Given the description of an element on the screen output the (x, y) to click on. 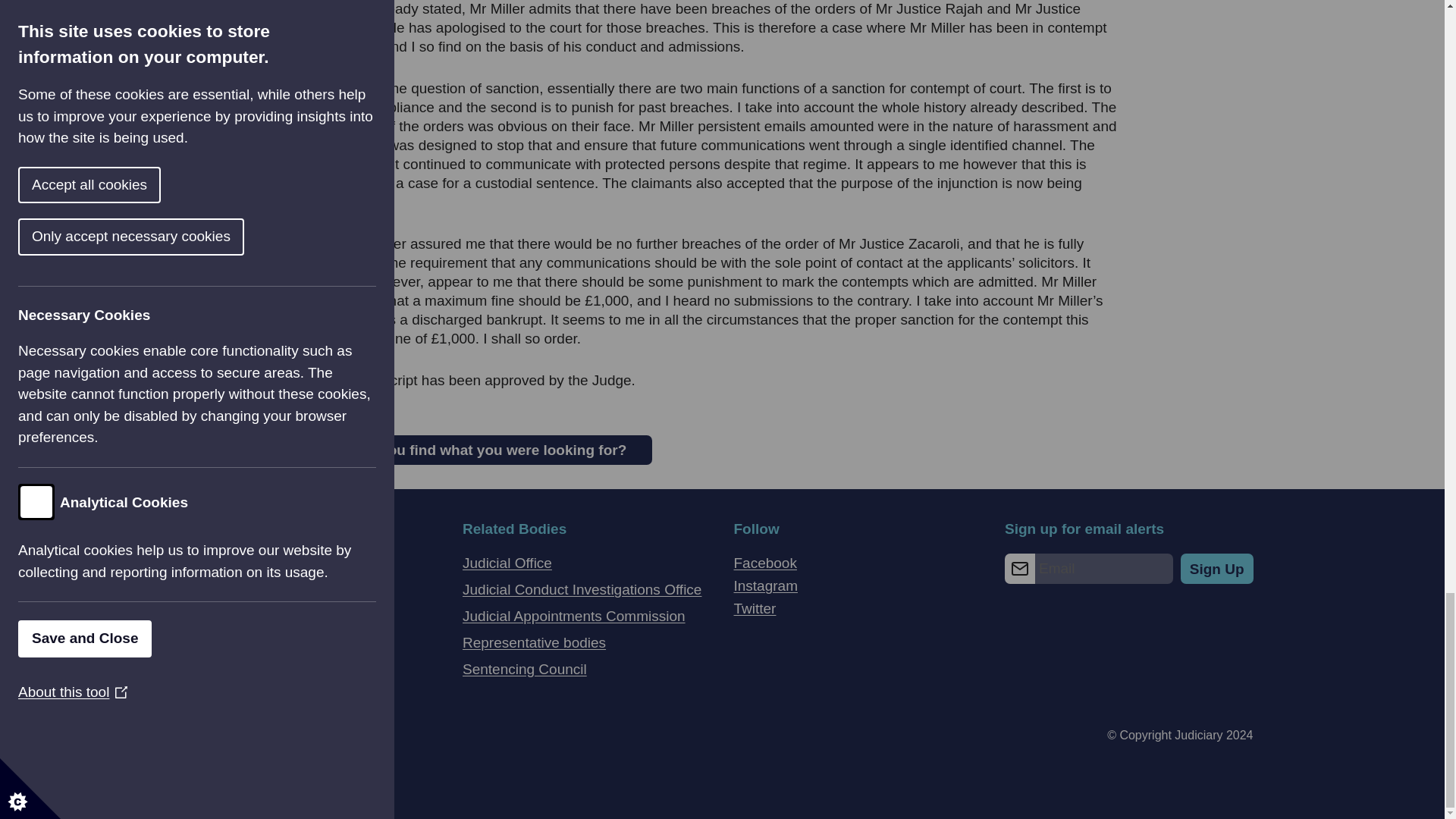
Sign Up (1216, 568)
